Given the description of an element on the screen output the (x, y) to click on. 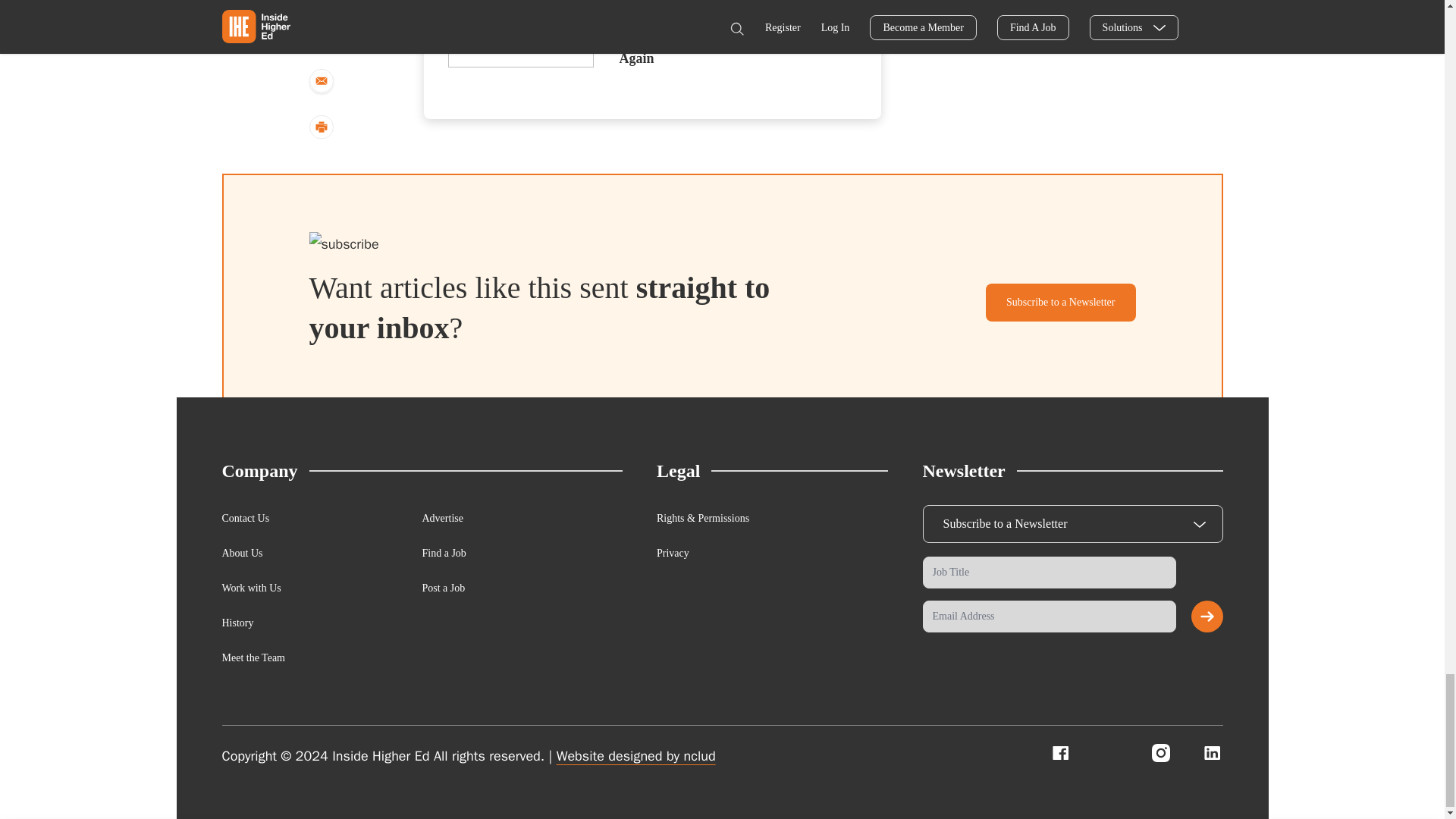
Submit (1207, 616)
